Given the description of an element on the screen output the (x, y) to click on. 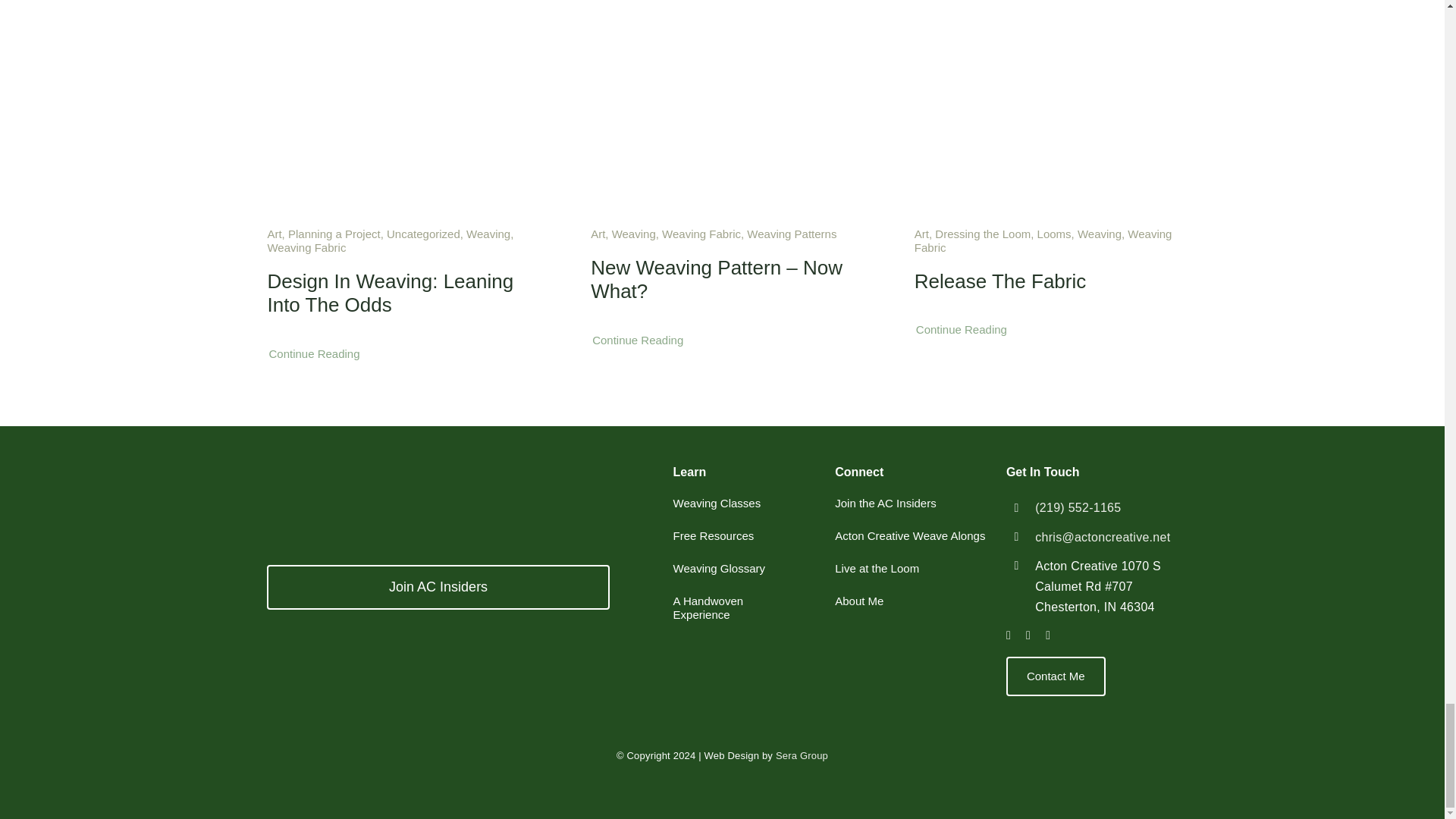
acton creative final-08 (380, 496)
